Given the description of an element on the screen output the (x, y) to click on. 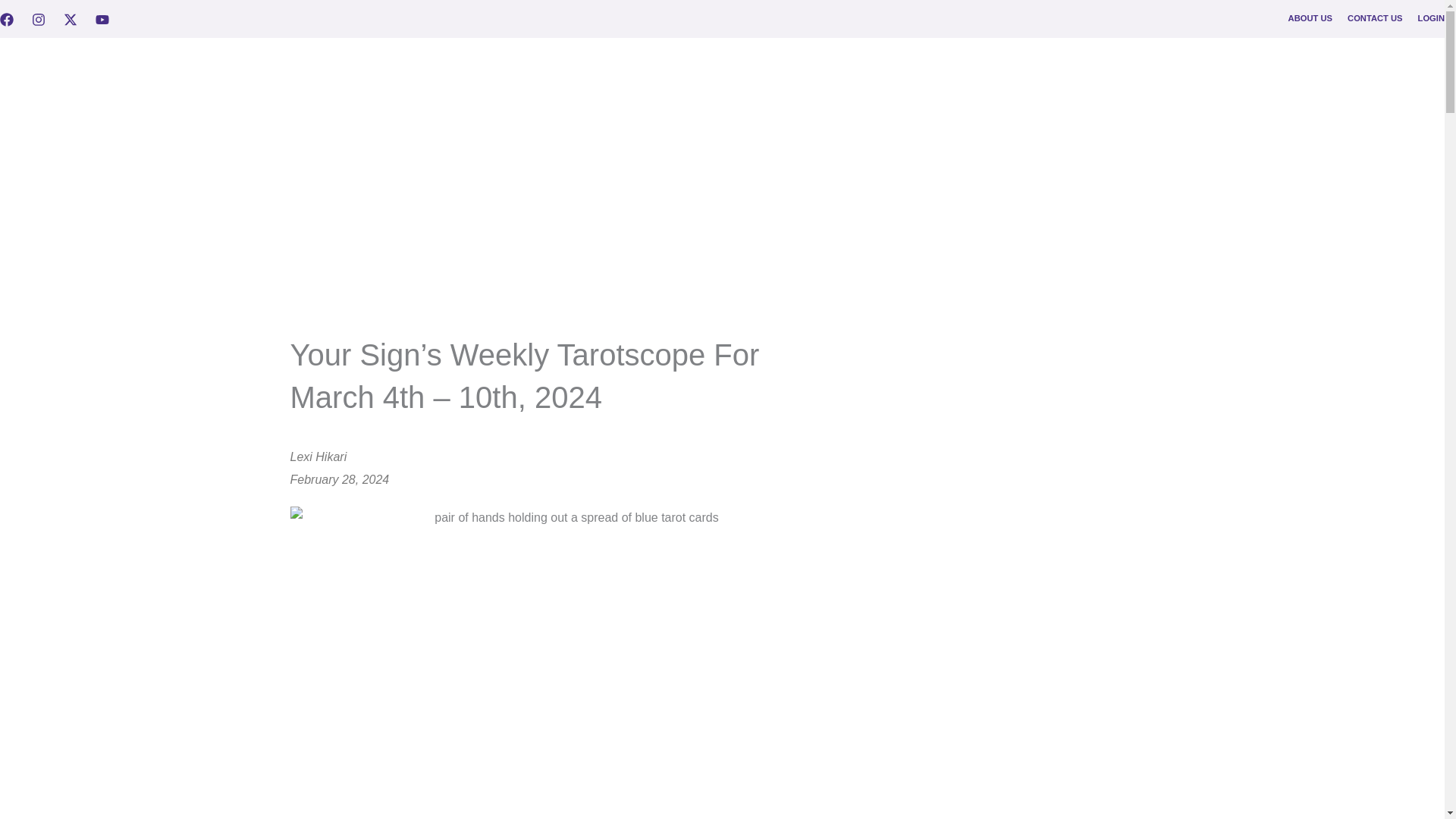
CONTACT US (1375, 18)
ASTROLOGY (1049, 60)
ABOUT US (1310, 18)
HOROSCOPES (956, 60)
